Given the description of an element on the screen output the (x, y) to click on. 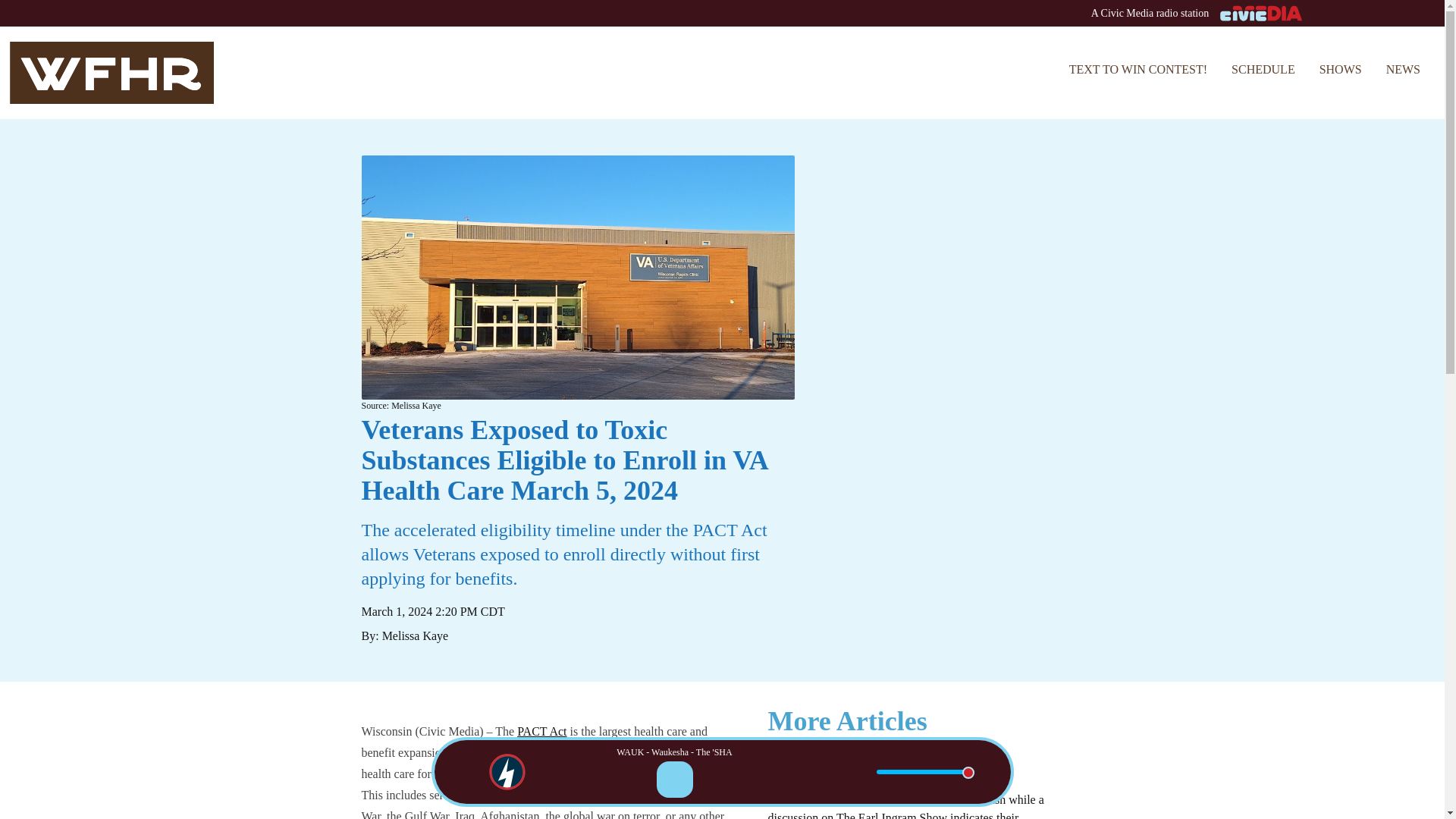
SCHEDULE (1263, 69)
100 (925, 771)
TEXT TO WIN CONTEST! (1138, 69)
NEWS (1403, 69)
PACT Act (541, 730)
A Civic Media radio station (721, 13)
SHOWS (1340, 69)
